Given the description of an element on the screen output the (x, y) to click on. 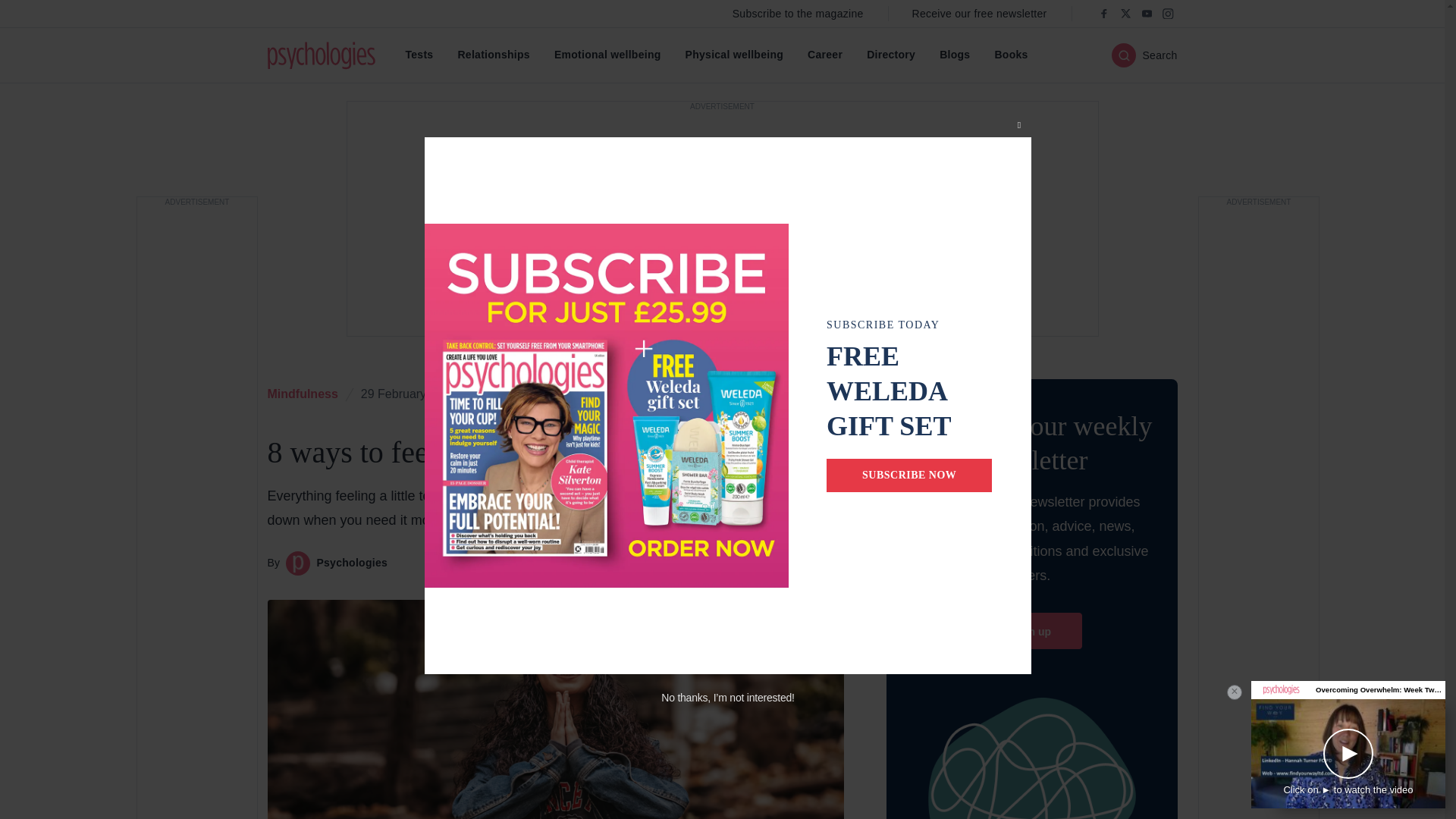
Click to share on Twitter (748, 394)
Tests (418, 54)
Click to share on WhatsApp (827, 394)
Psychologies (320, 55)
Relationships (493, 54)
advertisement (196, 511)
advertisement (1257, 511)
Click to share on Facebook (788, 394)
Emotional wellbeing (607, 54)
